Given the description of an element on the screen output the (x, y) to click on. 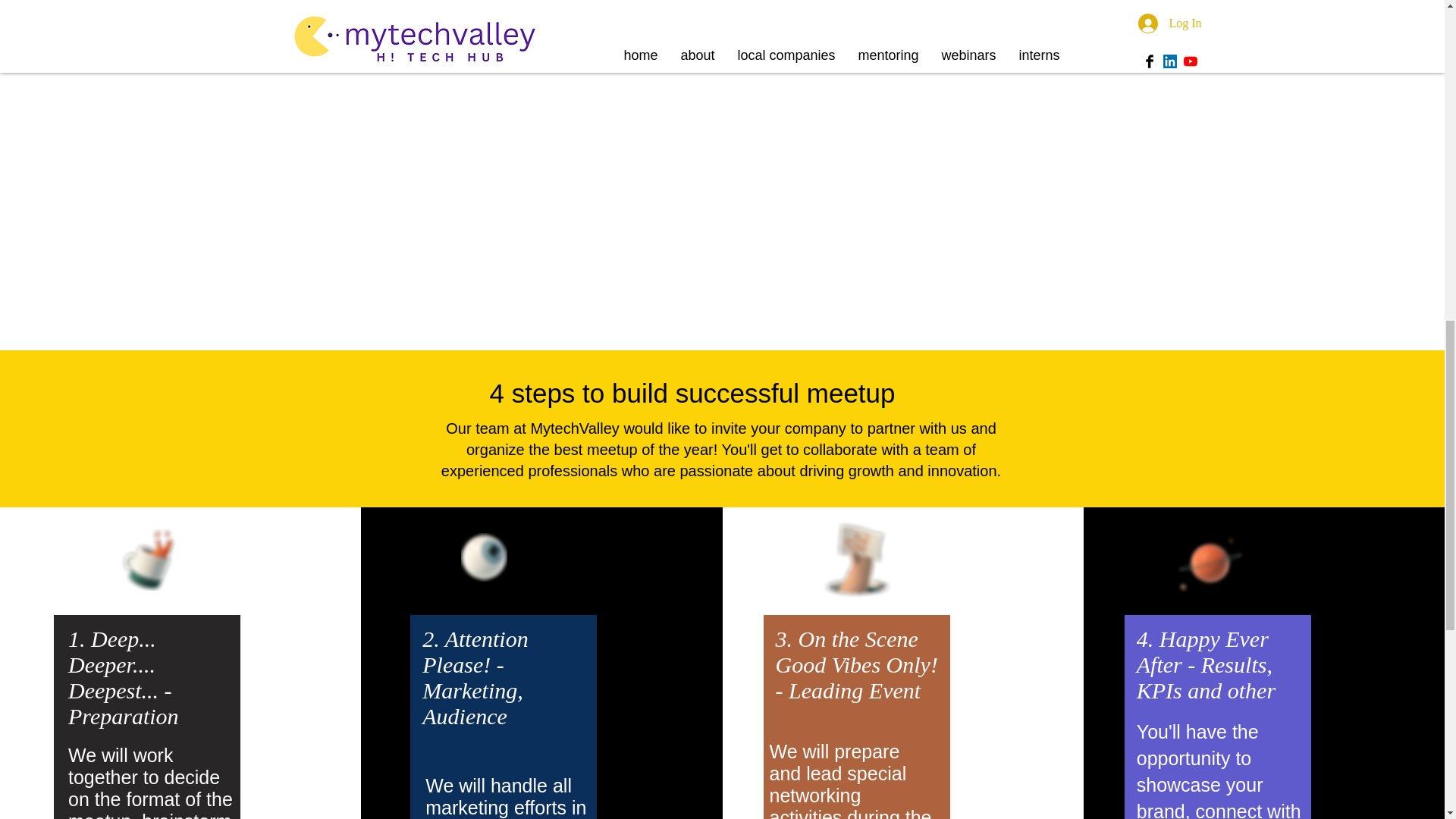
Planet (1210, 561)
Cup of Coffee (156, 557)
Eye (484, 557)
Hand with a note (857, 559)
